Given the description of an element on the screen output the (x, y) to click on. 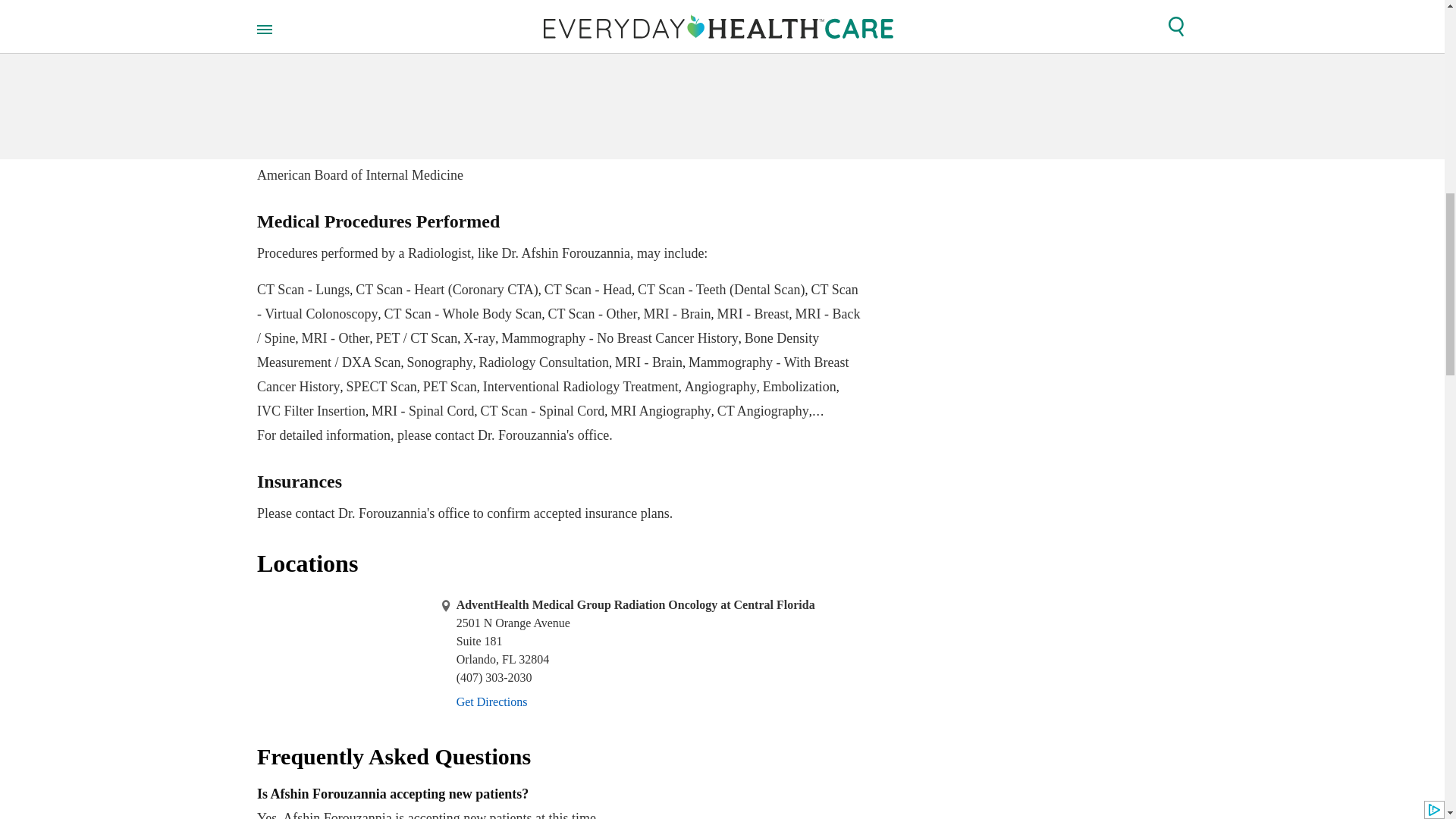
X-ray (479, 337)
MRI - Spinal Cord (422, 410)
Interventional Radiology Treatment (580, 386)
CT Scan - Lungs (303, 289)
CT Scan - Virtual Colonoscopy (558, 301)
Radiology Consultation (543, 362)
SPECT Scan (381, 386)
MRI - Breast (753, 313)
Sonography (438, 362)
